Given the description of an element on the screen output the (x, y) to click on. 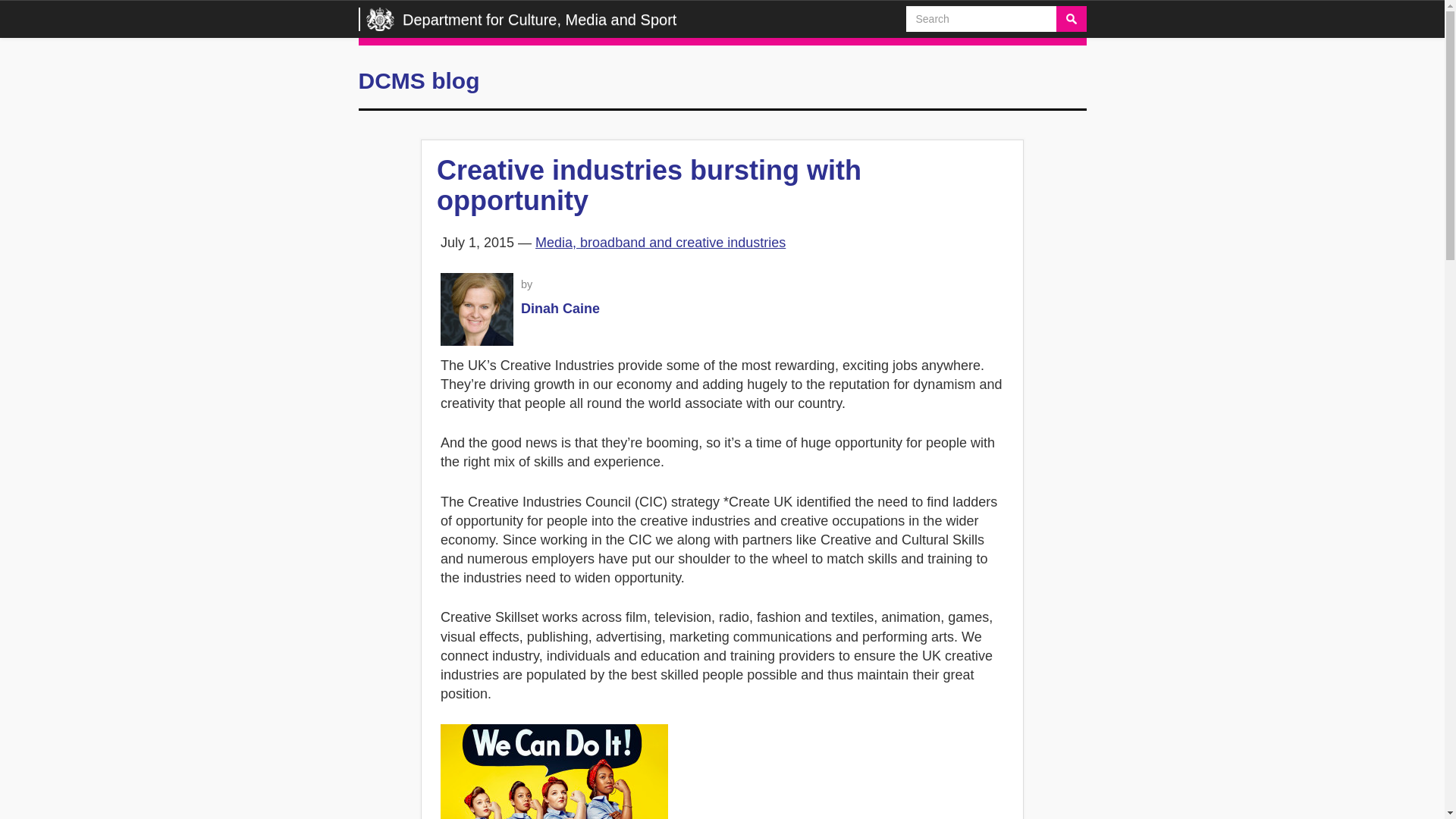
Search (1070, 18)
Dinah Caine (560, 308)
Media, broadband and creative industries (660, 242)
DCMS blog (418, 80)
Department for Culture, Media and Sport (517, 15)
